Given the description of an element on the screen output the (x, y) to click on. 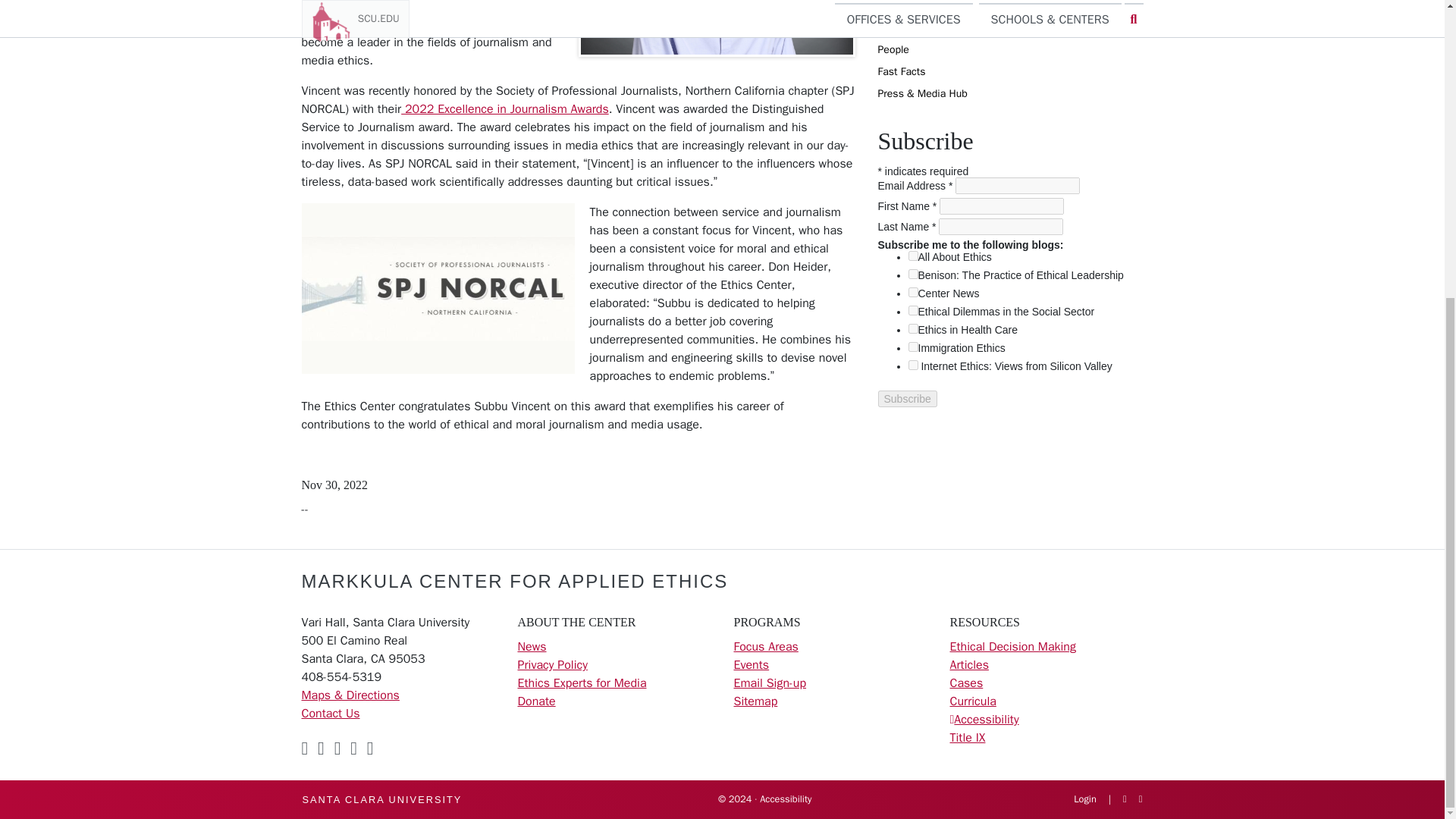
Accessibility (985, 719)
16384 (913, 347)
1024 (913, 292)
Subscribe (907, 398)
The Office of Equal Opportunity and Title IX (967, 737)
4096 (913, 365)
512 (913, 274)
256 (913, 255)
2048 (913, 310)
8192 (913, 328)
